Given the description of an element on the screen output the (x, y) to click on. 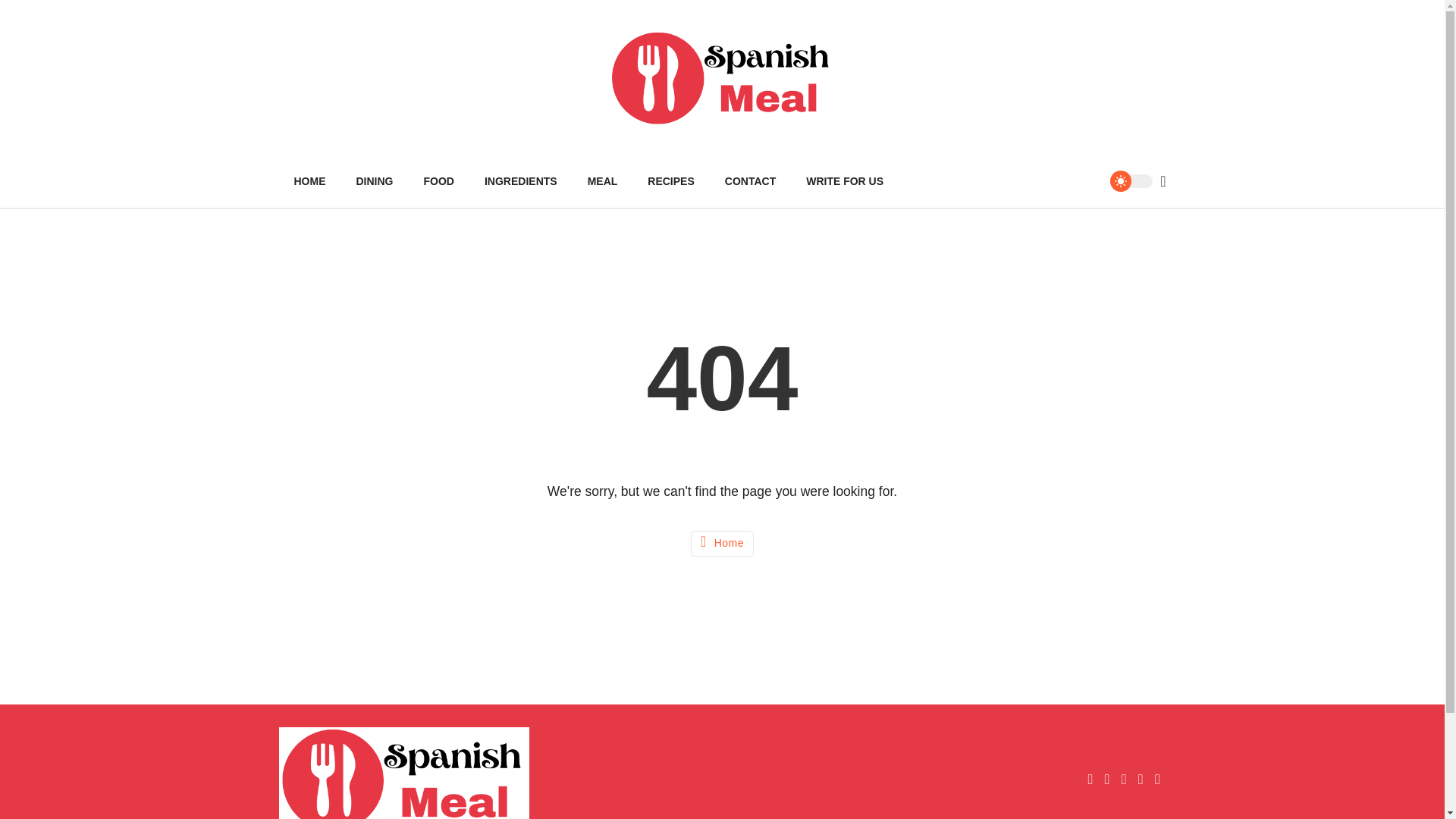
FOOD (437, 181)
DINING (374, 181)
RECIPES (670, 181)
Home (722, 543)
INGREDIENTS (520, 181)
MEAL (602, 181)
WRITE FOR US (844, 181)
CONTACT (750, 181)
HOME (309, 181)
